Given the description of an element on the screen output the (x, y) to click on. 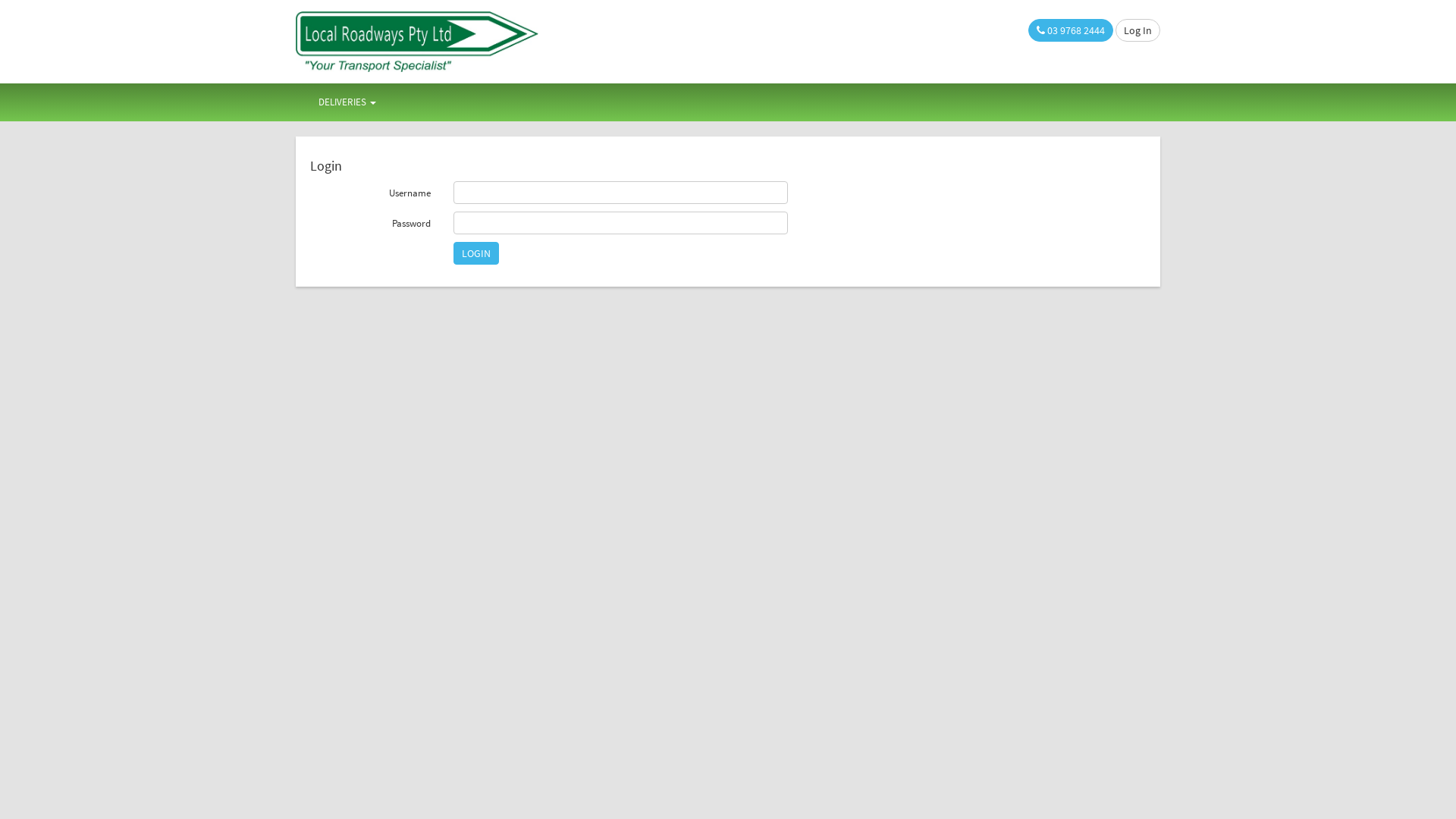
DELIVERIES Element type: text (347, 102)
Log In Element type: text (1137, 29)
LOGIN Element type: text (475, 252)
